Given the description of an element on the screen output the (x, y) to click on. 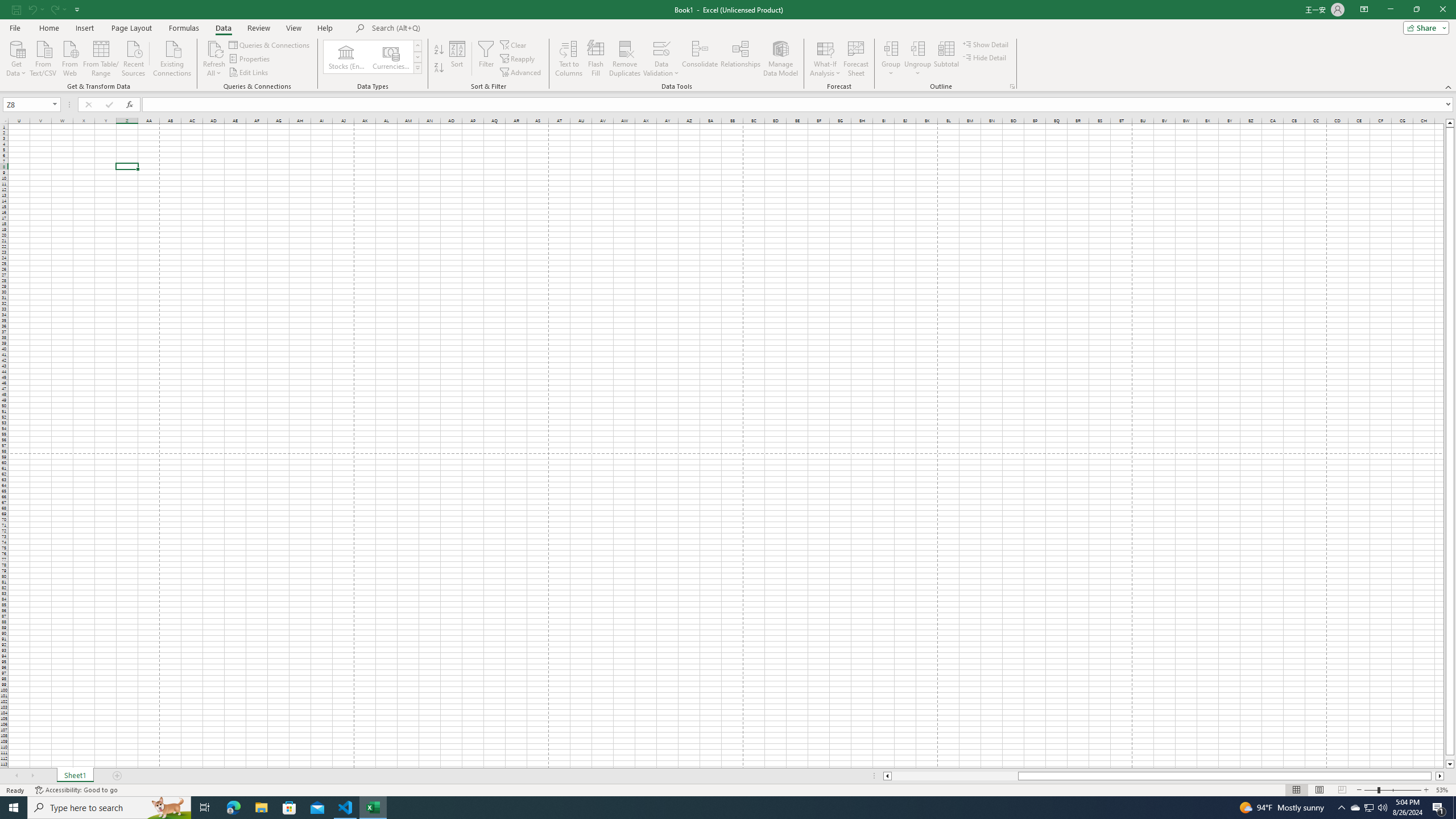
Row Down (417, 56)
Currencies (English) (390, 56)
Sort A to Z (438, 49)
Formula Bar (798, 104)
Row up (417, 45)
Forecast Sheet (856, 58)
